Given the description of an element on the screen output the (x, y) to click on. 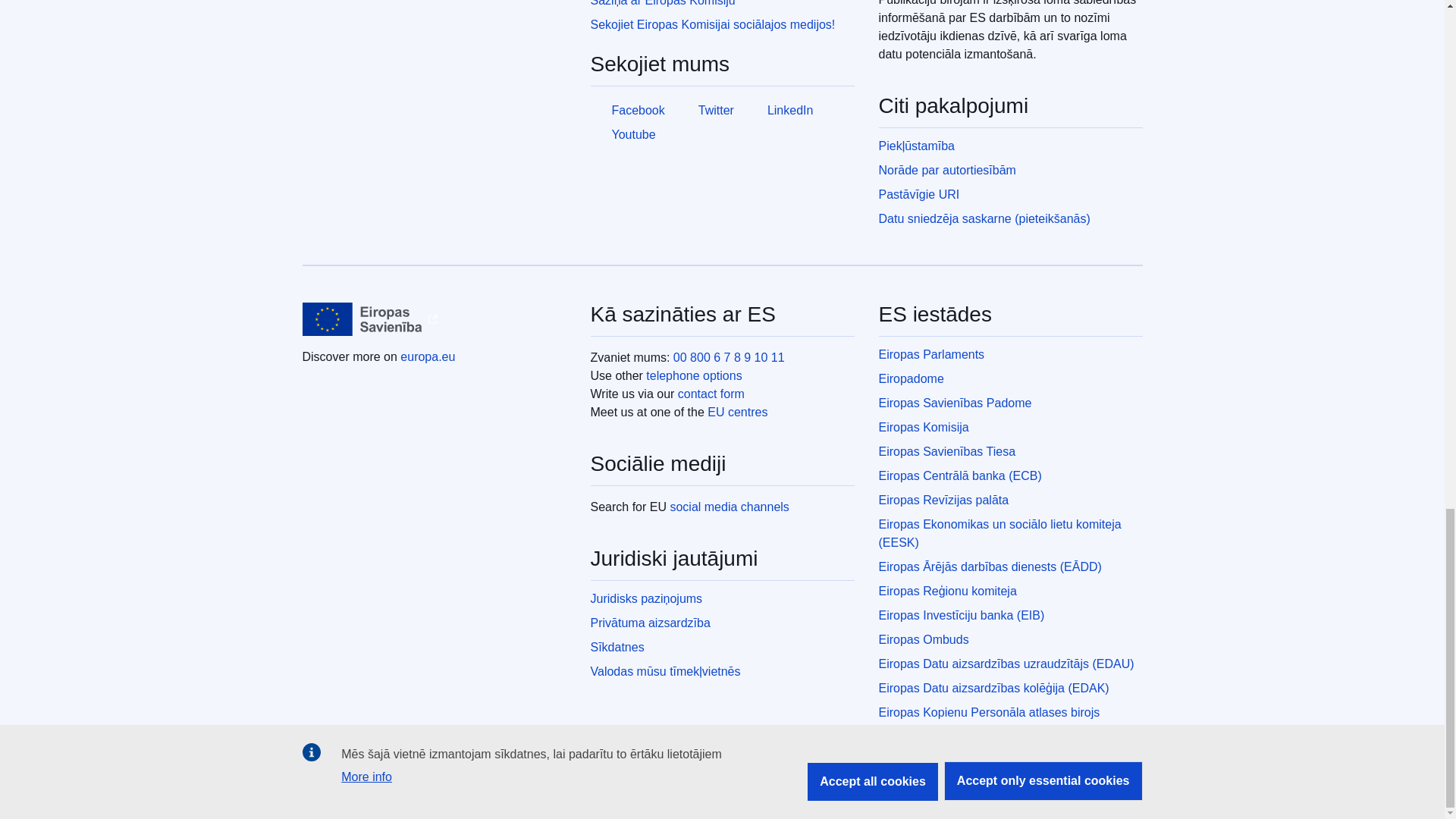
European Union (361, 318)
